Given the description of an element on the screen output the (x, y) to click on. 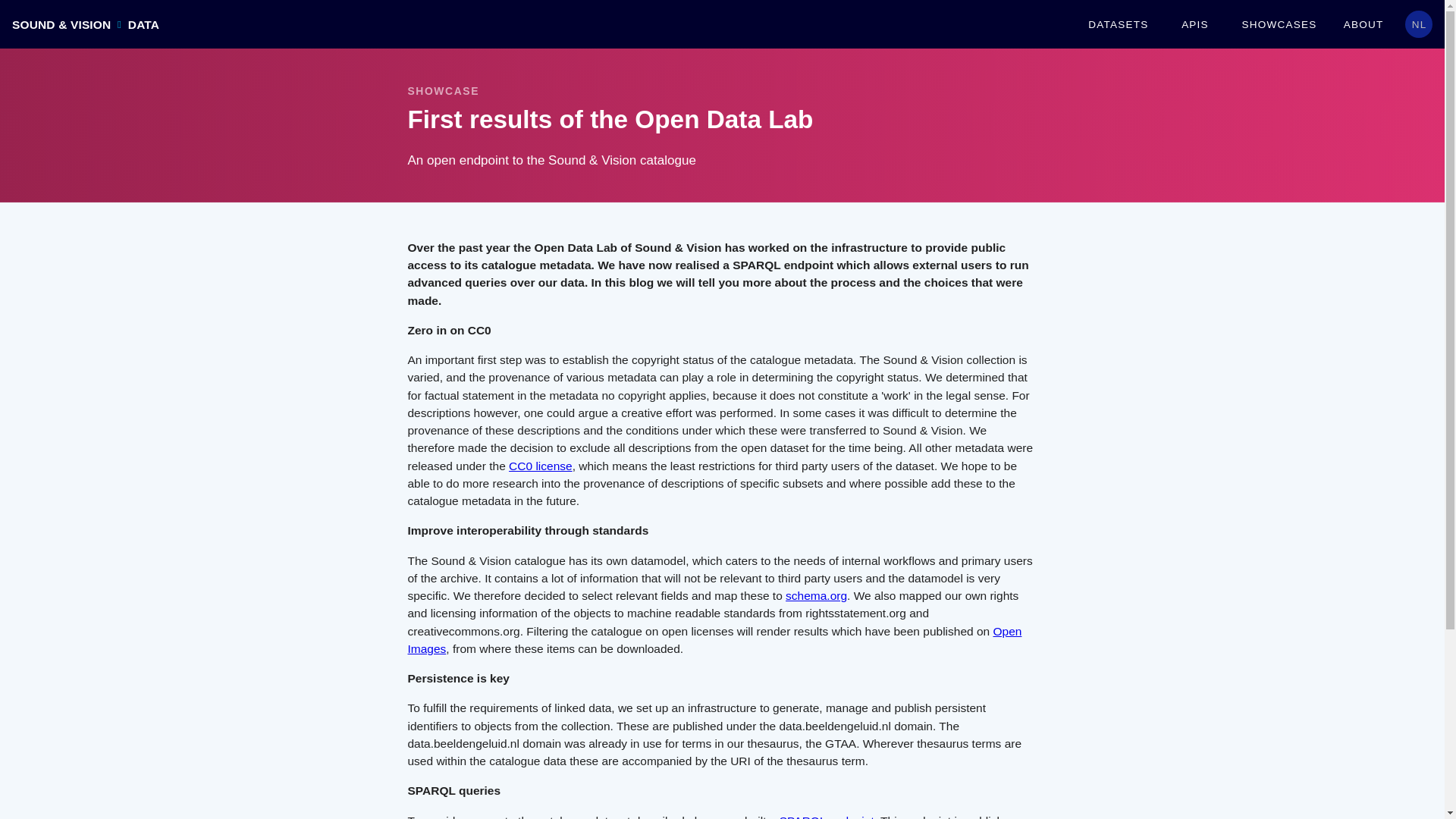
DATASETS (1117, 24)
NL (1418, 23)
schema.org (816, 594)
SHOWCASES (1278, 24)
SHOWCASE (443, 91)
CC0 license (540, 465)
Open Images (714, 639)
Open Images (714, 639)
CC0 license (540, 465)
APIS (1194, 24)
ABOUT (1363, 24)
SPARQL endpoint (826, 816)
Schema.org (816, 594)
